Given the description of an element on the screen output the (x, y) to click on. 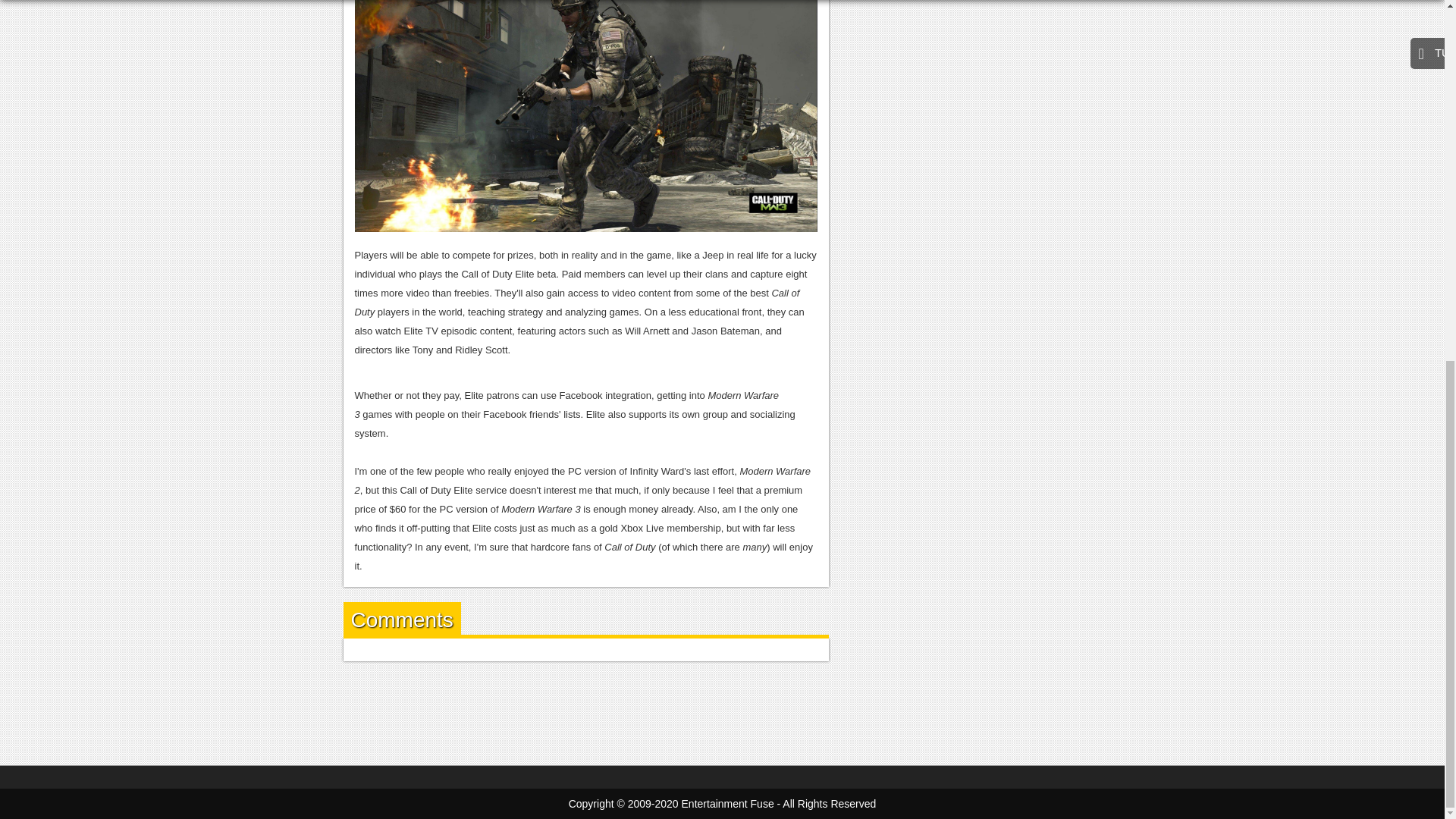
Advertisement (721, 710)
